Given the description of an element on the screen output the (x, y) to click on. 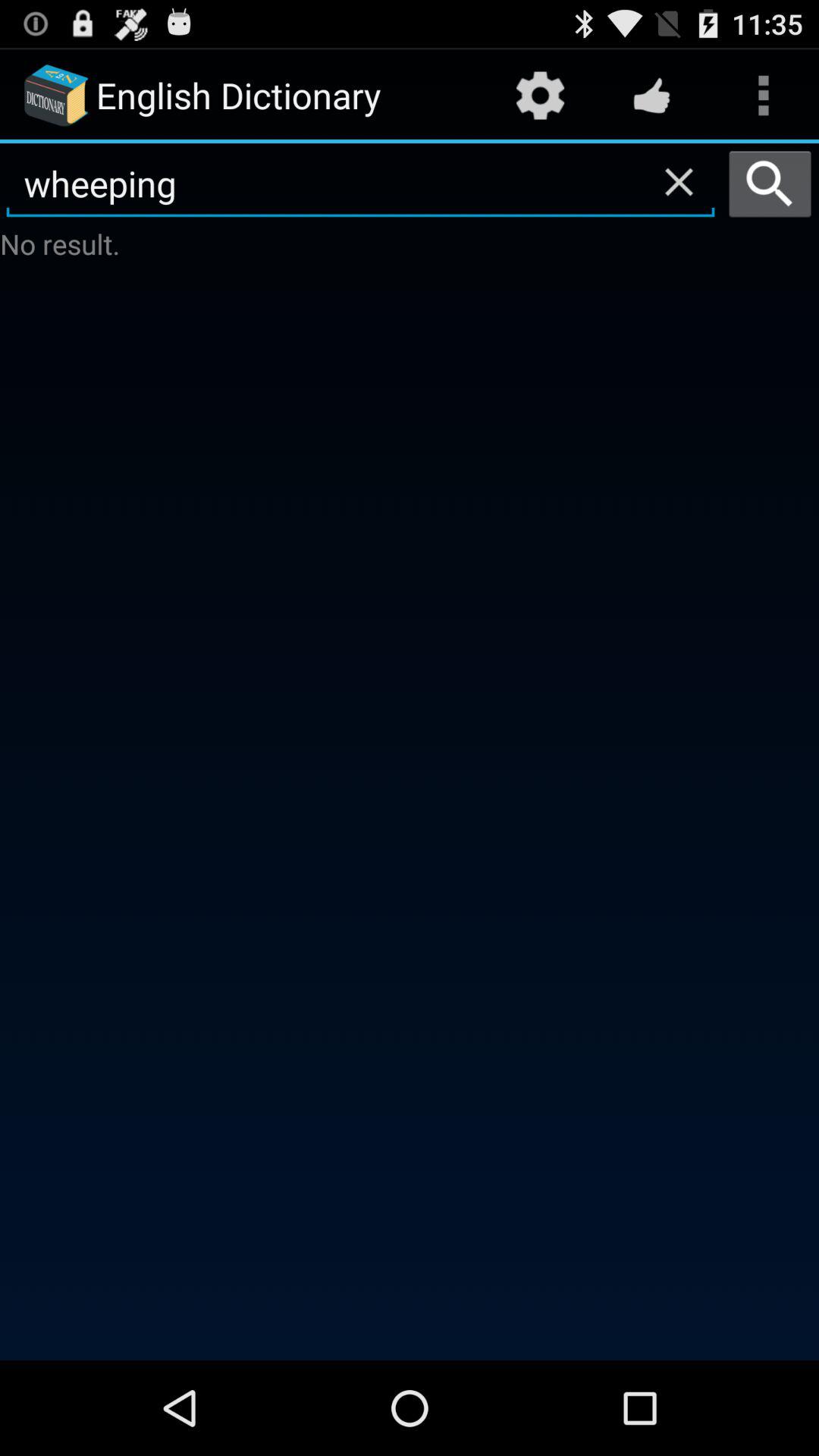
flip to the wheeping (360, 184)
